Given the description of an element on the screen output the (x, y) to click on. 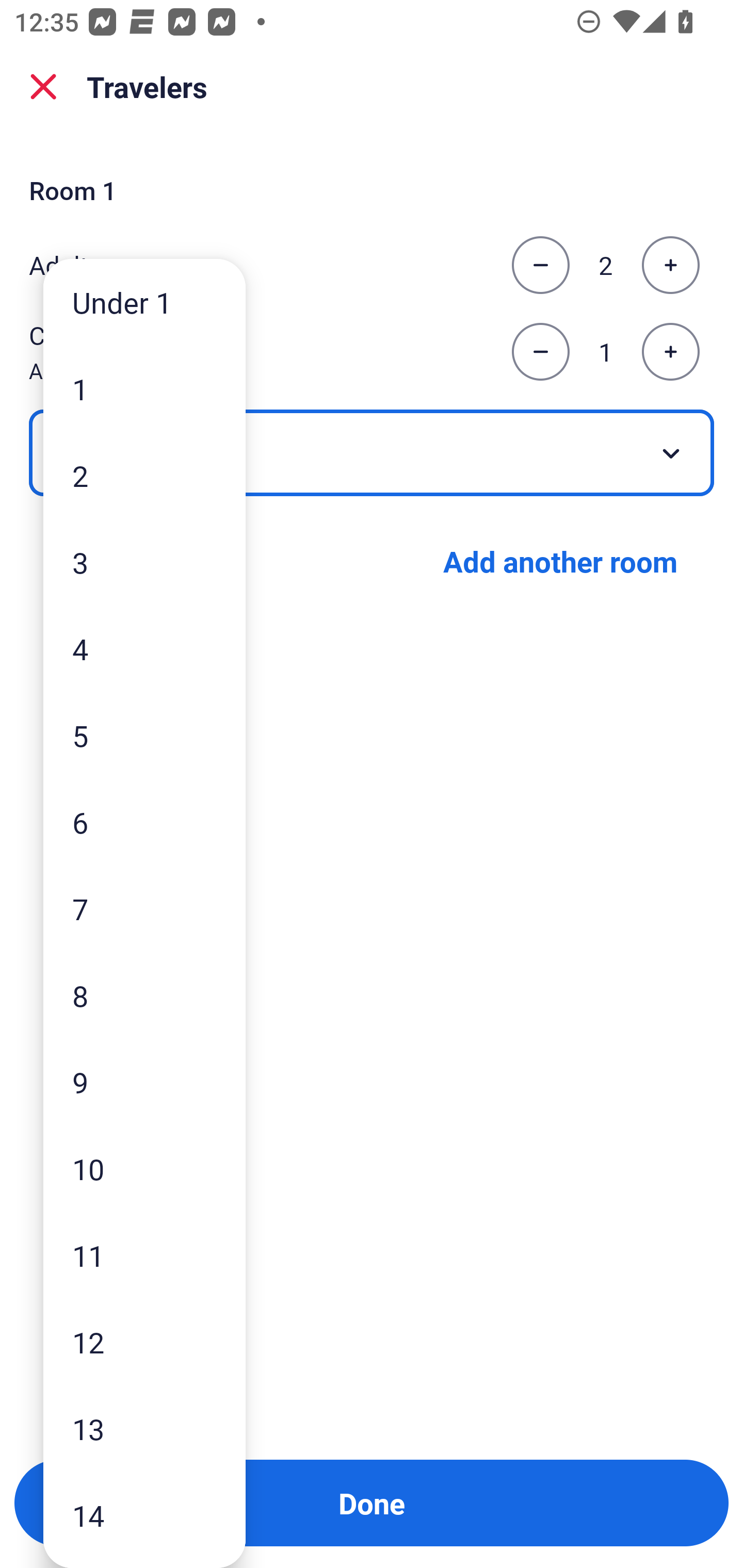
Under 1 (144, 301)
1 (144, 388)
2 (144, 475)
3 (144, 562)
4 (144, 648)
5 (144, 735)
6 (144, 822)
7 (144, 908)
8 (144, 994)
9 (144, 1081)
10 (144, 1168)
11 (144, 1255)
12 (144, 1342)
13 (144, 1429)
14 (144, 1515)
